Given the description of an element on the screen output the (x, y) to click on. 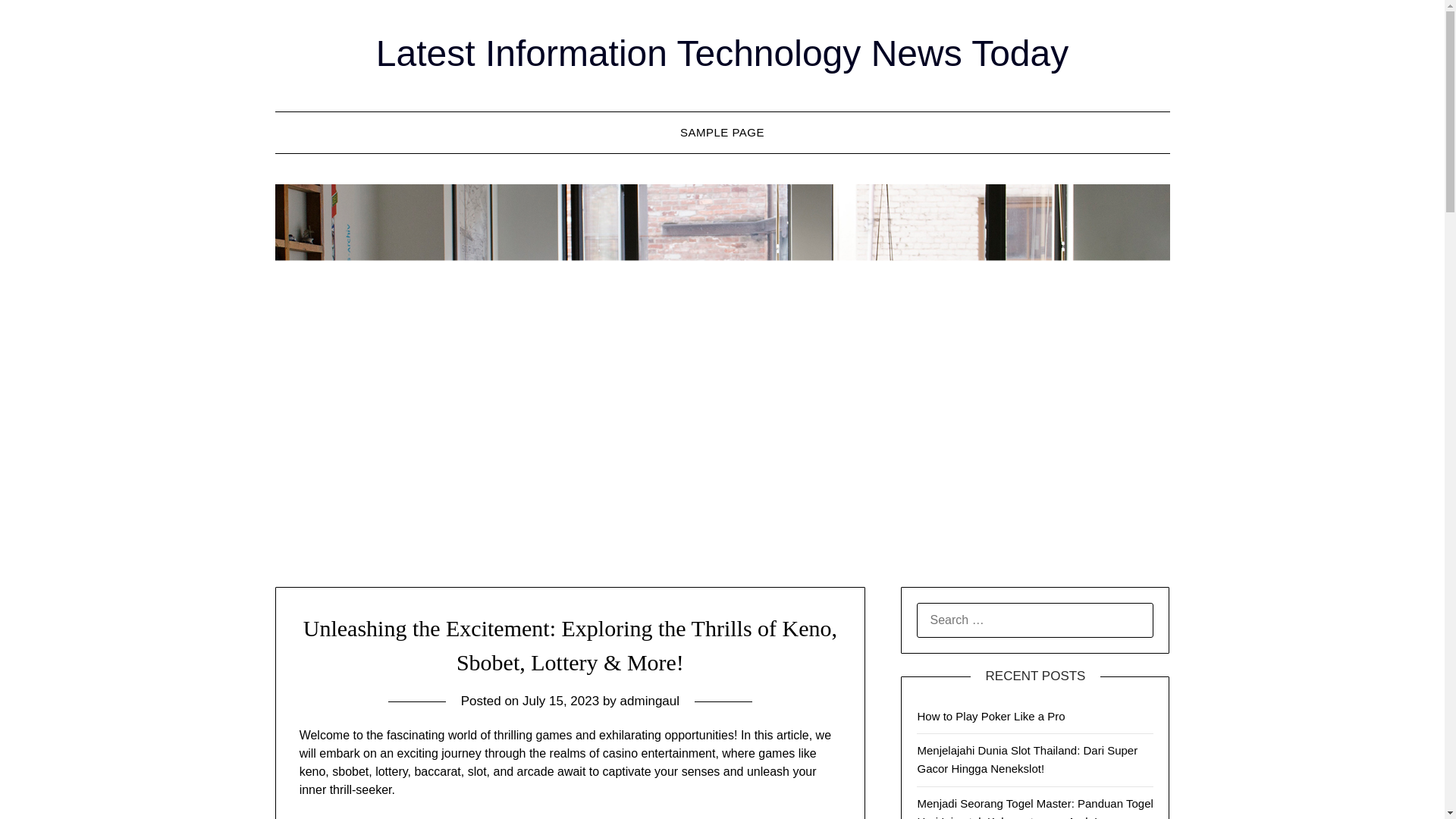
Search (38, 22)
admingaul (649, 700)
Latest Information Technology News Today (721, 53)
July 15, 2023 (560, 700)
How to Play Poker Like a Pro (990, 716)
SAMPLE PAGE (722, 132)
